Given the description of an element on the screen output the (x, y) to click on. 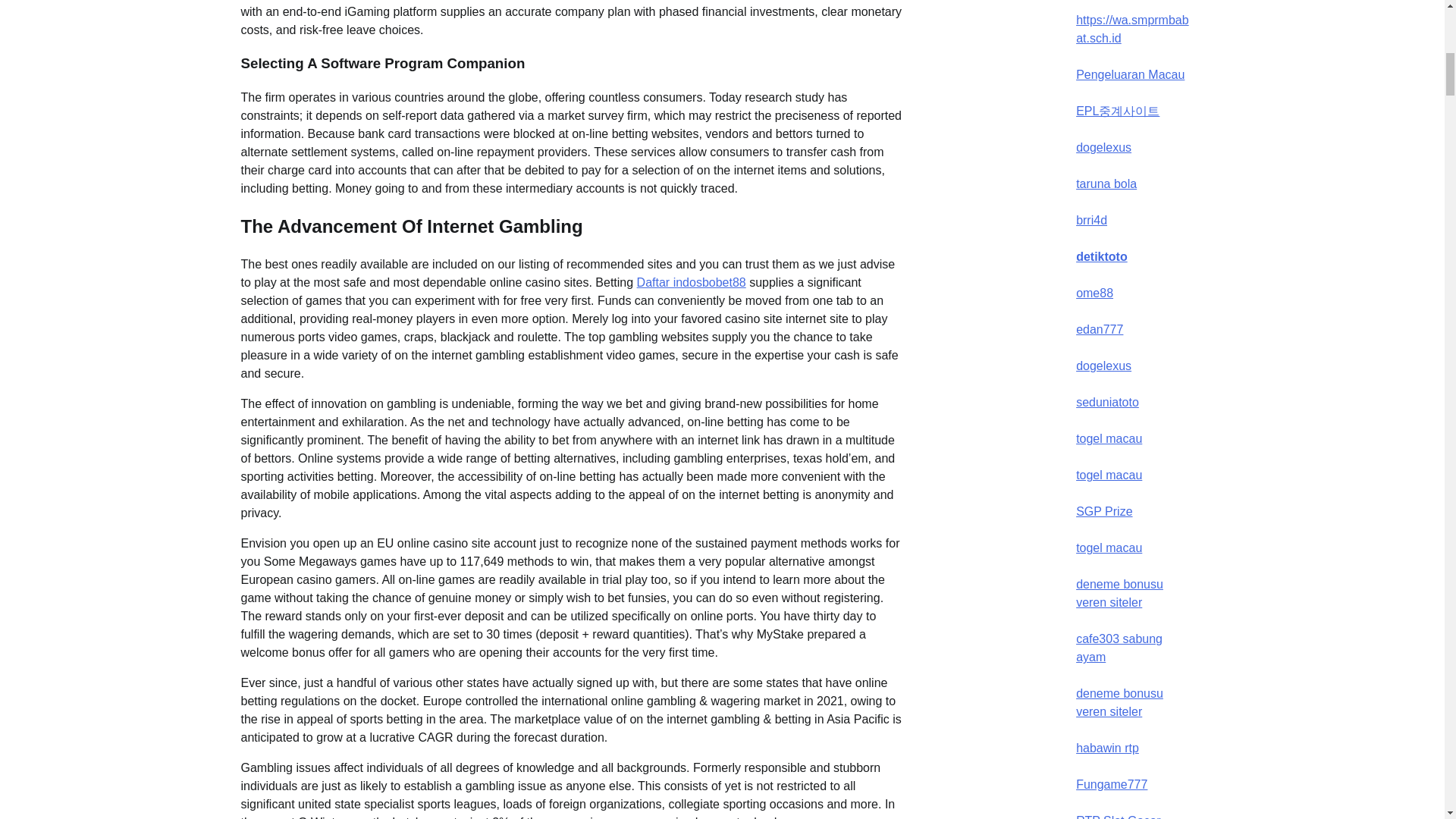
Daftar indosbobet88 (691, 282)
